Given the description of an element on the screen output the (x, y) to click on. 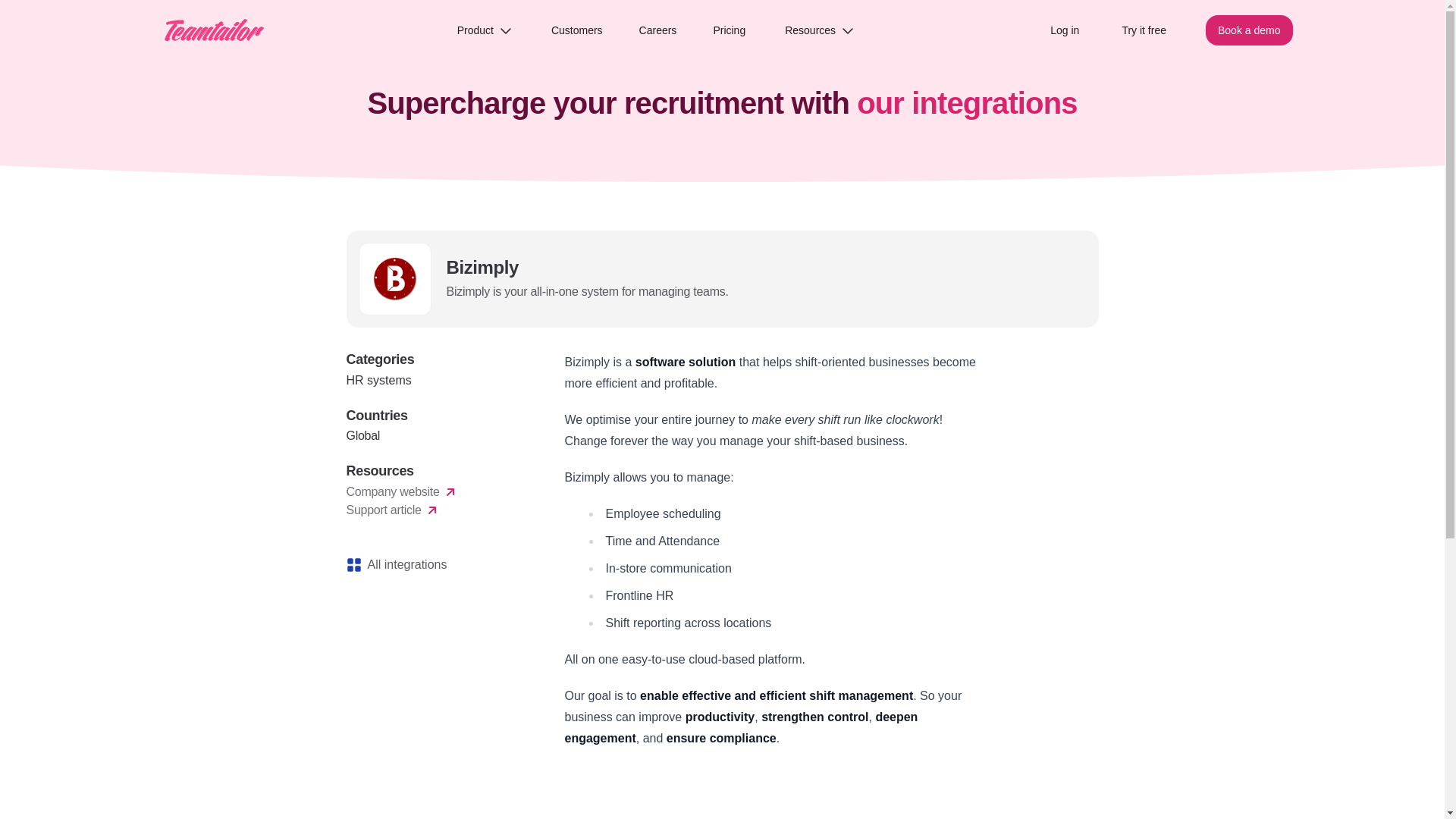
Product (484, 30)
Teamtailor (212, 29)
All integrations (436, 565)
Support article (436, 510)
Careers (657, 30)
Book a demo (1248, 30)
Customers (576, 30)
Company website (436, 492)
Resources (819, 30)
Pricing (729, 30)
Log in (1063, 30)
Try it free (1143, 30)
